Given the description of an element on the screen output the (x, y) to click on. 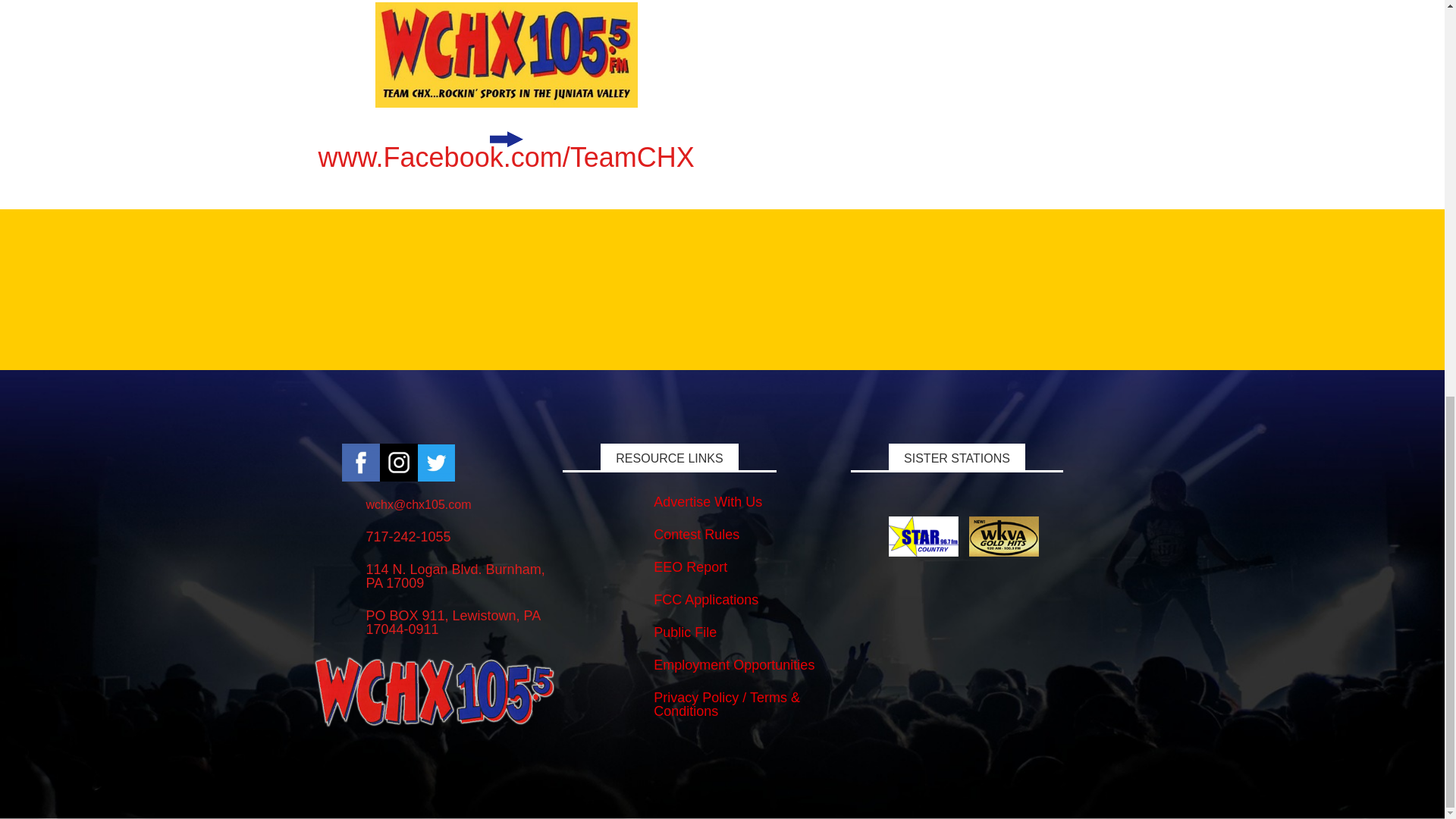
Contest Rules (696, 534)
Public File (684, 631)
Realtime sports scoreboard widget (722, 286)
WCHX ROCKIN SPORTS (506, 54)
Advertise With Us (707, 501)
EEO Report (689, 566)
FCC Applications (705, 599)
Employment Opportunities (733, 664)
